Given the description of an element on the screen output the (x, y) to click on. 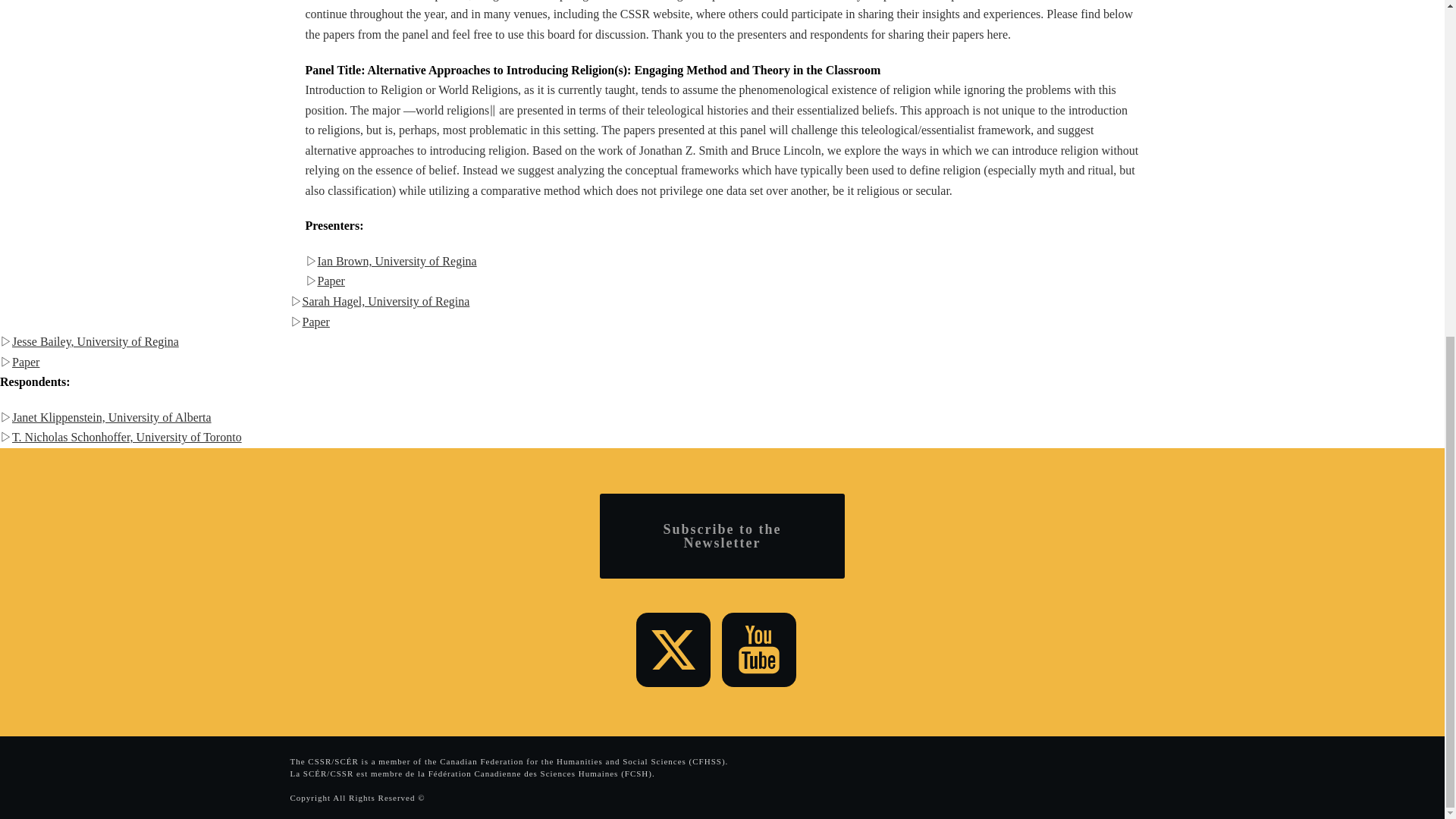
Follow Us on youtube (759, 649)
Subscribe to the Newsletter (721, 535)
Follow Us on twitter (673, 649)
